Given the description of an element on the screen output the (x, y) to click on. 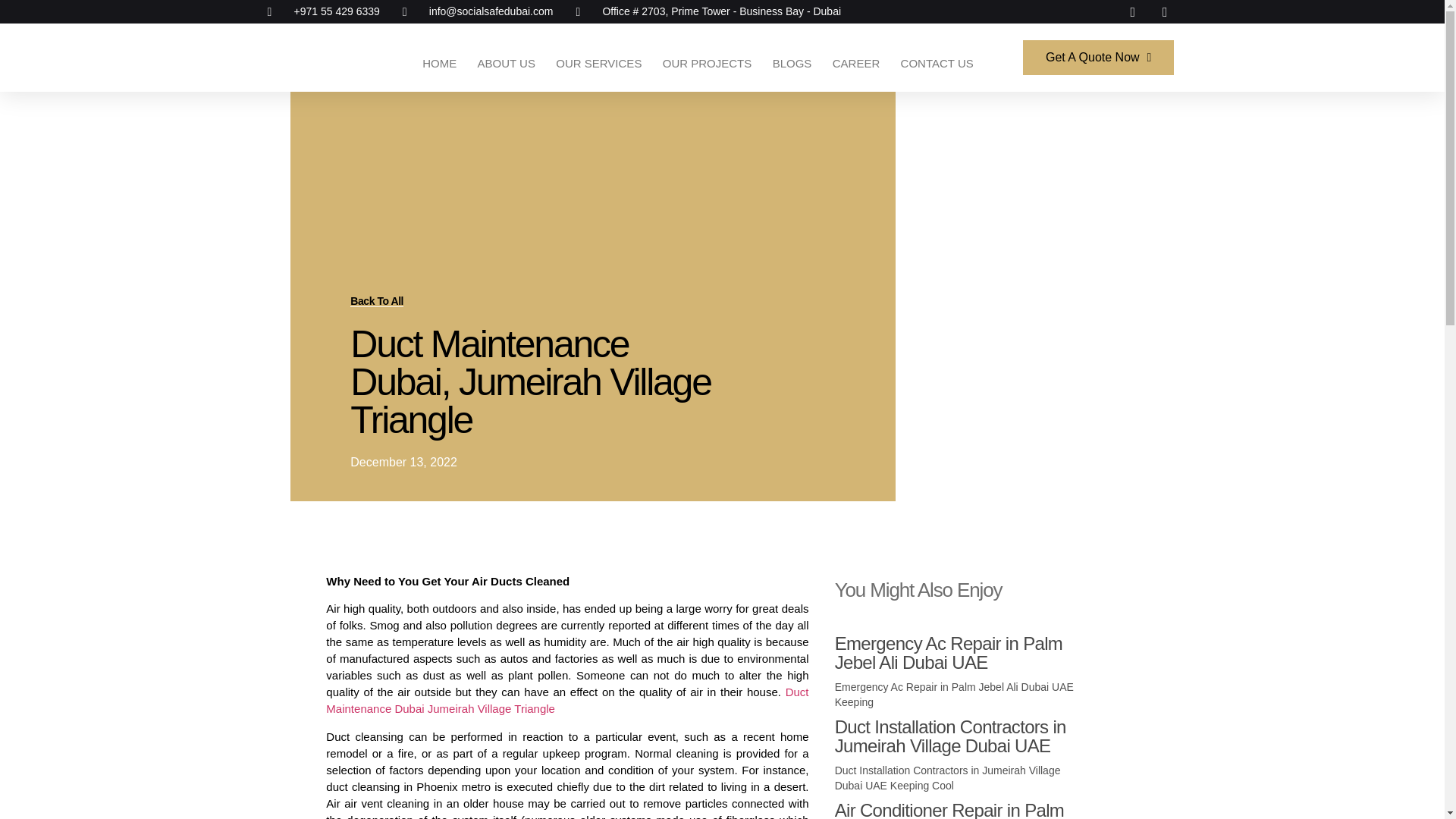
OUR SERVICES (599, 63)
HOME (438, 63)
OUR PROJECTS (706, 63)
CAREER (855, 63)
ABOUT US (506, 63)
Back To All (376, 301)
BLOGS (791, 63)
CONTACT US (936, 63)
Get A Quote Now (1098, 57)
